Given the description of an element on the screen output the (x, y) to click on. 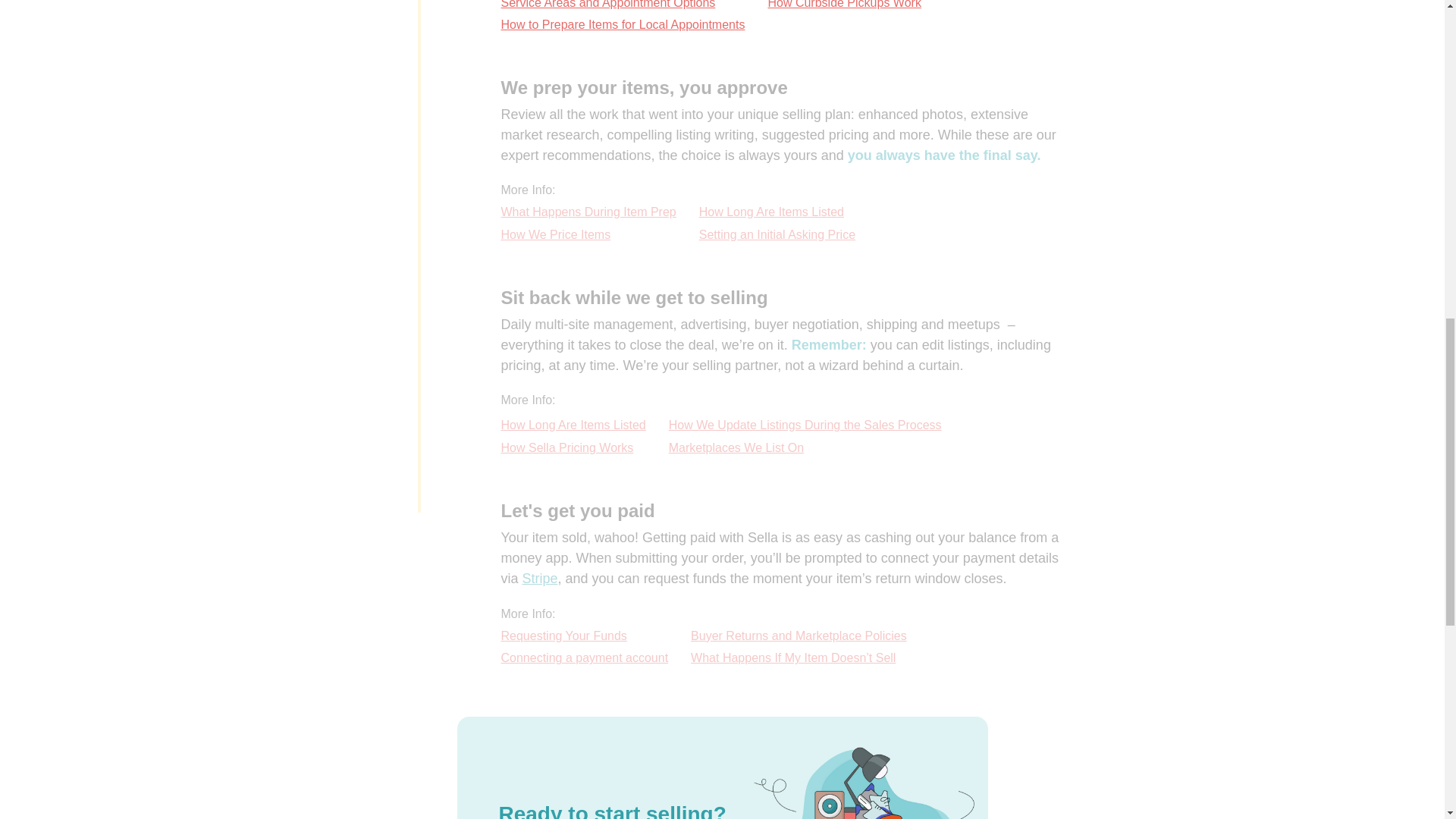
Stripe (539, 578)
How We Update Listings During the Sales Process (805, 425)
How Sella Pricing Works (572, 447)
Connecting a payment account (584, 658)
Setting an Initial Asking Price (777, 235)
Marketplaces We List On (805, 447)
How Curbside Pickups Work (843, 6)
What Happens During Item Prep (587, 212)
How Long Are Items Listed (572, 425)
Buyer Returns and Marketplace Policies (798, 636)
How Long Are Items Listed (777, 212)
Service Areas and Appointment Options (622, 6)
How to Prepare Items for Local Appointments (622, 25)
How We Price Items (587, 235)
Requesting Your Funds (584, 636)
